Given the description of an element on the screen output the (x, y) to click on. 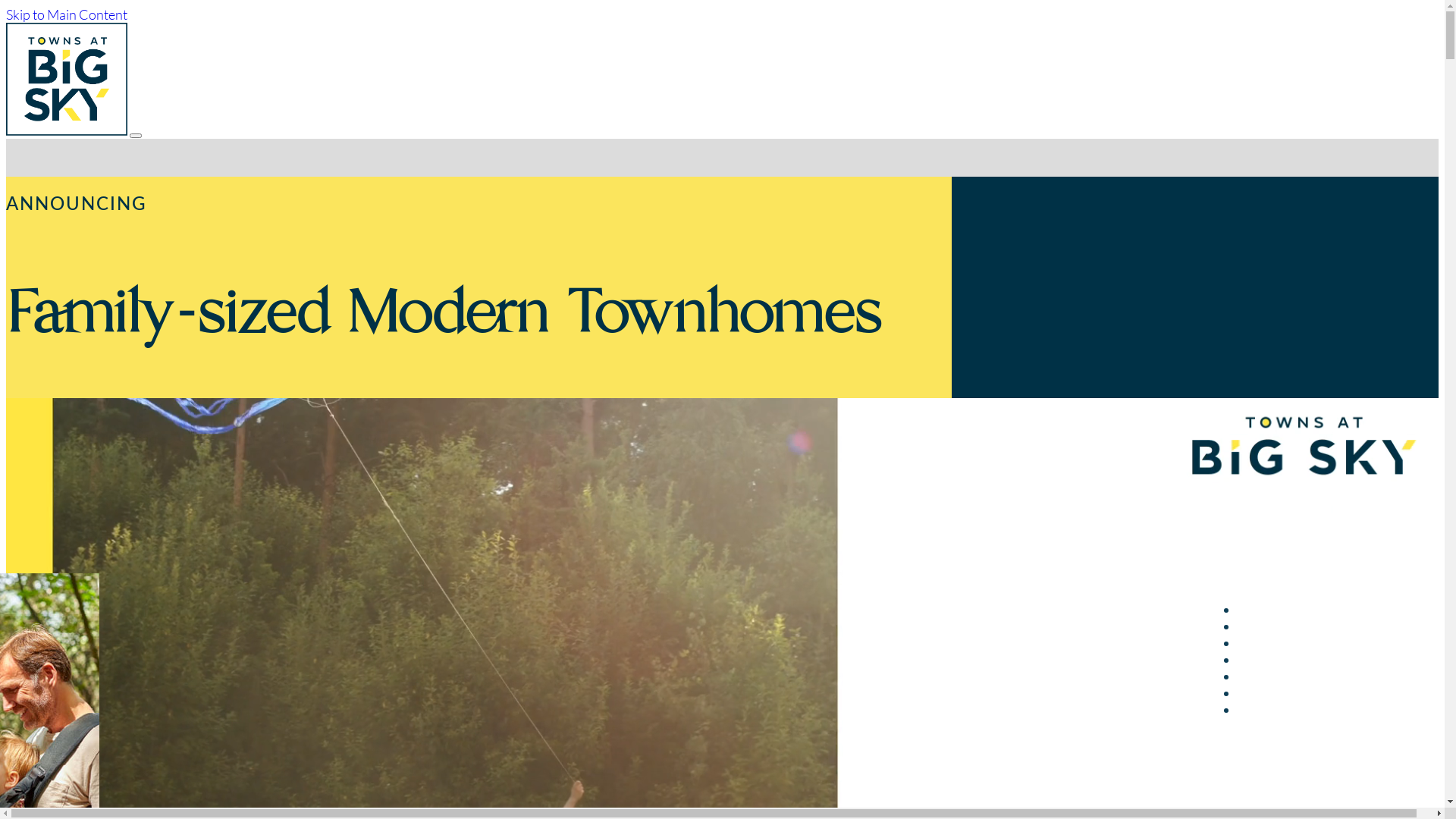
LOCATION Element type: text (1273, 627)
SITE PLAN Element type: text (1272, 693)
REGISTER NOW Element type: text (1290, 710)
AREA AMENITIES Element type: text (1295, 643)
INTERIOR GALLERY Element type: text (1303, 660)
WELCOME Element type: text (1273, 610)
REASONS TO BUY Element type: text (1296, 677)
Skip to Main Content Element type: text (66, 14)
